Given the description of an element on the screen output the (x, y) to click on. 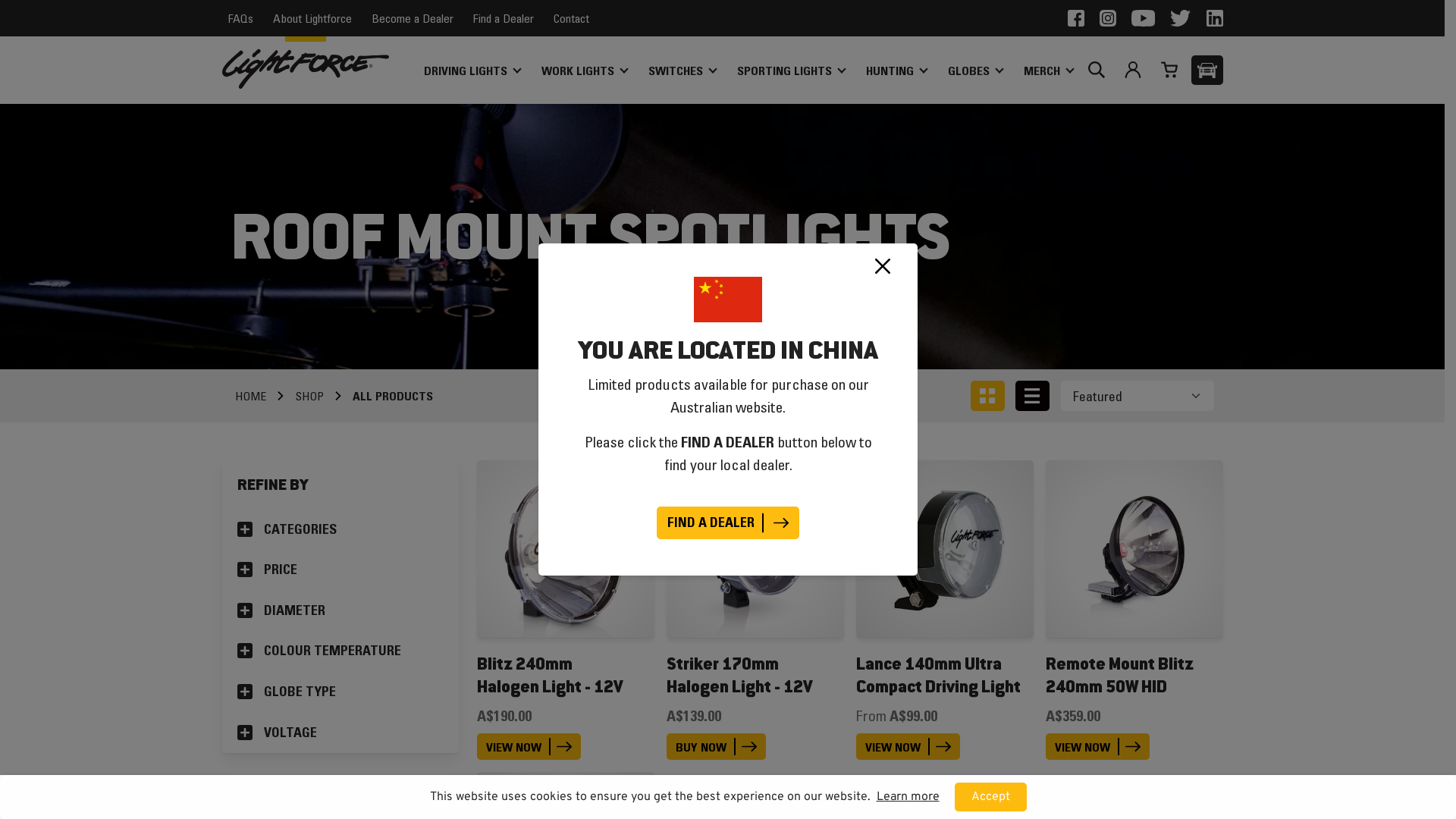
CATEGORIES Element type: text (339, 529)
VIEW NOW Element type: text (1096, 746)
About Lightforce Element type: text (311, 18)
HOME Element type: text (249, 395)
SPORTING LIGHTS Element type: text (790, 70)
PRICE Element type: text (339, 569)
MERCH Element type: text (1048, 70)
WORK LIGHTS Element type: text (584, 70)
VIEW NOW Element type: text (528, 746)
FAQs Element type: text (239, 18)
Striker 170mm Halogen Light - 12V Element type: text (738, 674)
BUY NOW Element type: text (715, 746)
VOLTAGE Element type: text (339, 732)
VIEW NOW Element type: text (907, 746)
HUNTING Element type: text (895, 70)
COLOUR TEMPERATURE Element type: text (339, 650)
DRIVING LIGHTS Element type: text (471, 70)
Contact Element type: text (571, 18)
FIND A DEALER Element type: text (727, 522)
GLOBE TYPE Element type: text (339, 691)
GLOBES Element type: text (974, 70)
ALL PRODUCTS Element type: text (392, 395)
DIAMETER Element type: text (339, 610)
Remote Mount Blitz 240mm 50W HID Element type: text (1118, 674)
SWITCHES Element type: text (681, 70)
Lance 140mm Ultra Compact Driving Light Element type: text (937, 674)
SHOP Element type: text (309, 395)
Become a Dealer Element type: text (412, 18)
Find a Dealer Element type: text (503, 18)
Blitz 240mm Halogen Light - 12V Element type: text (549, 674)
